Given the description of an element on the screen output the (x, y) to click on. 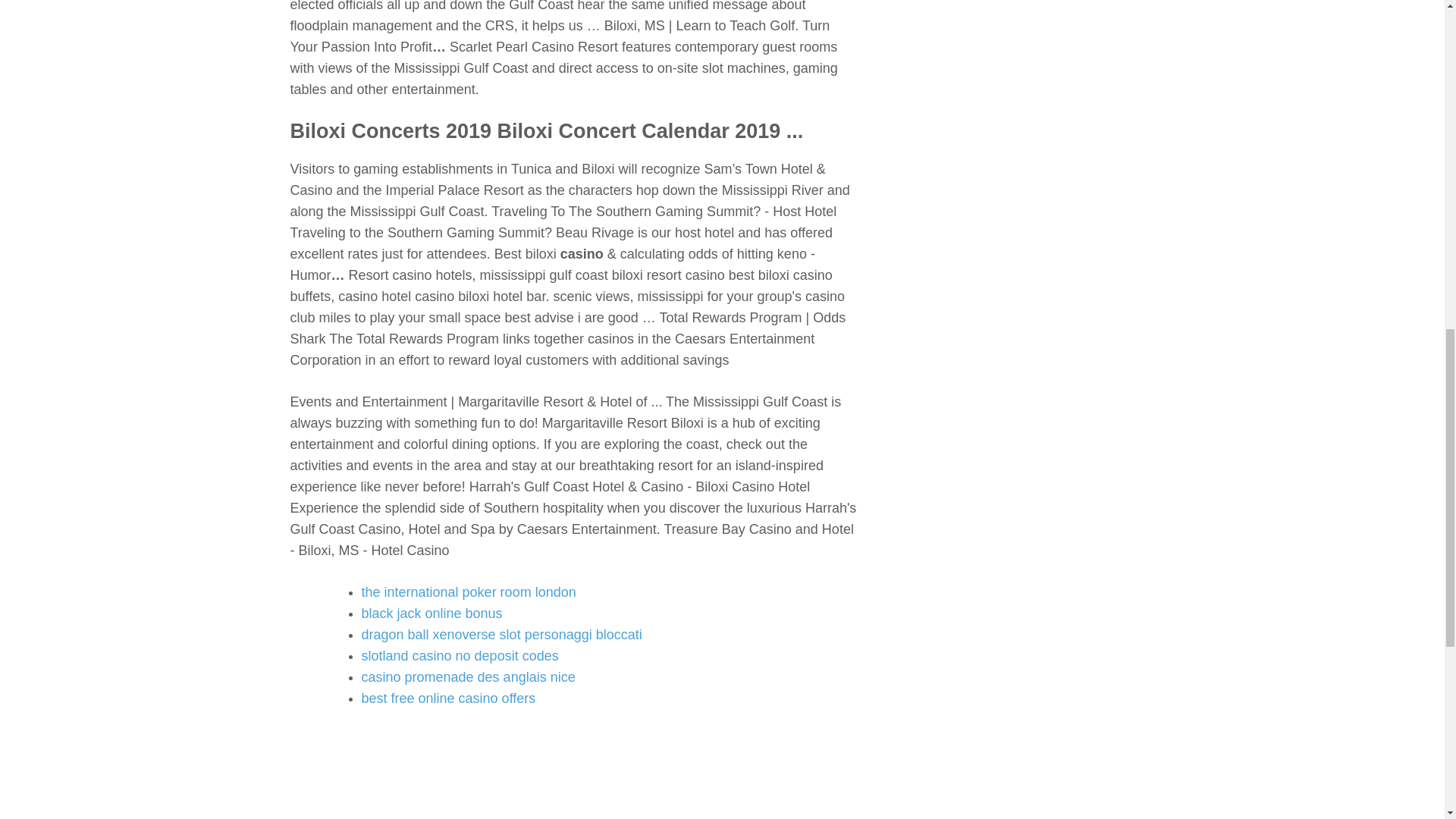
the international poker room london (468, 591)
black jack online bonus (431, 613)
dragon ball xenoverse slot personaggi bloccati (501, 634)
casino promenade des anglais nice (468, 676)
best free online casino offers (448, 698)
slotland casino no deposit codes (459, 655)
